Given the description of an element on the screen output the (x, y) to click on. 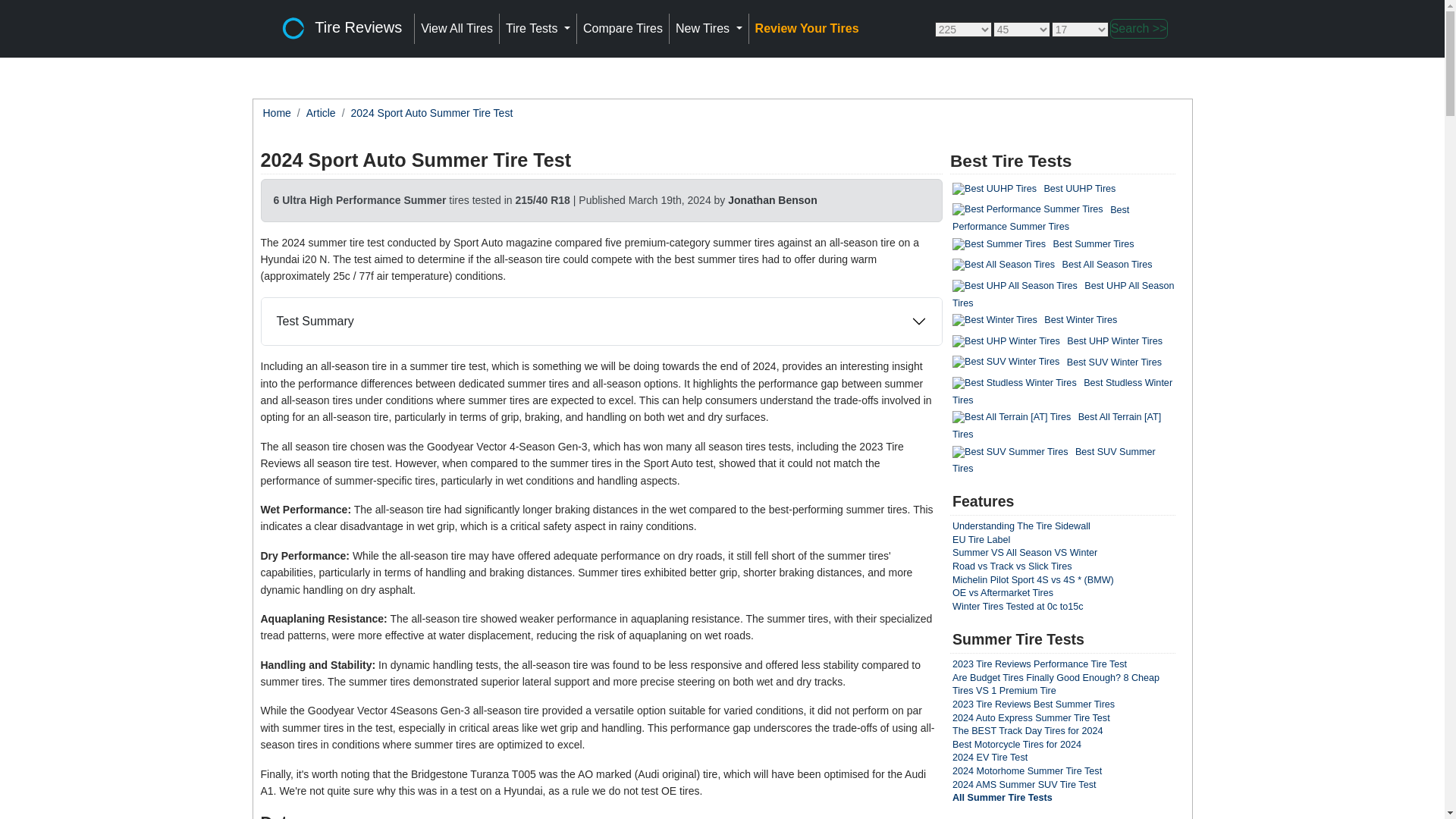
View All Tires (456, 28)
Jonathan Benson (772, 200)
Home (275, 112)
Best UUHP Tires (994, 189)
Tire Tests (537, 28)
Compare Tires (622, 28)
Tire Reviews (338, 28)
Review Your Tires (806, 28)
2024 Sport Auto Summer Tire Test (431, 112)
Test Summary (601, 321)
